Given the description of an element on the screen output the (x, y) to click on. 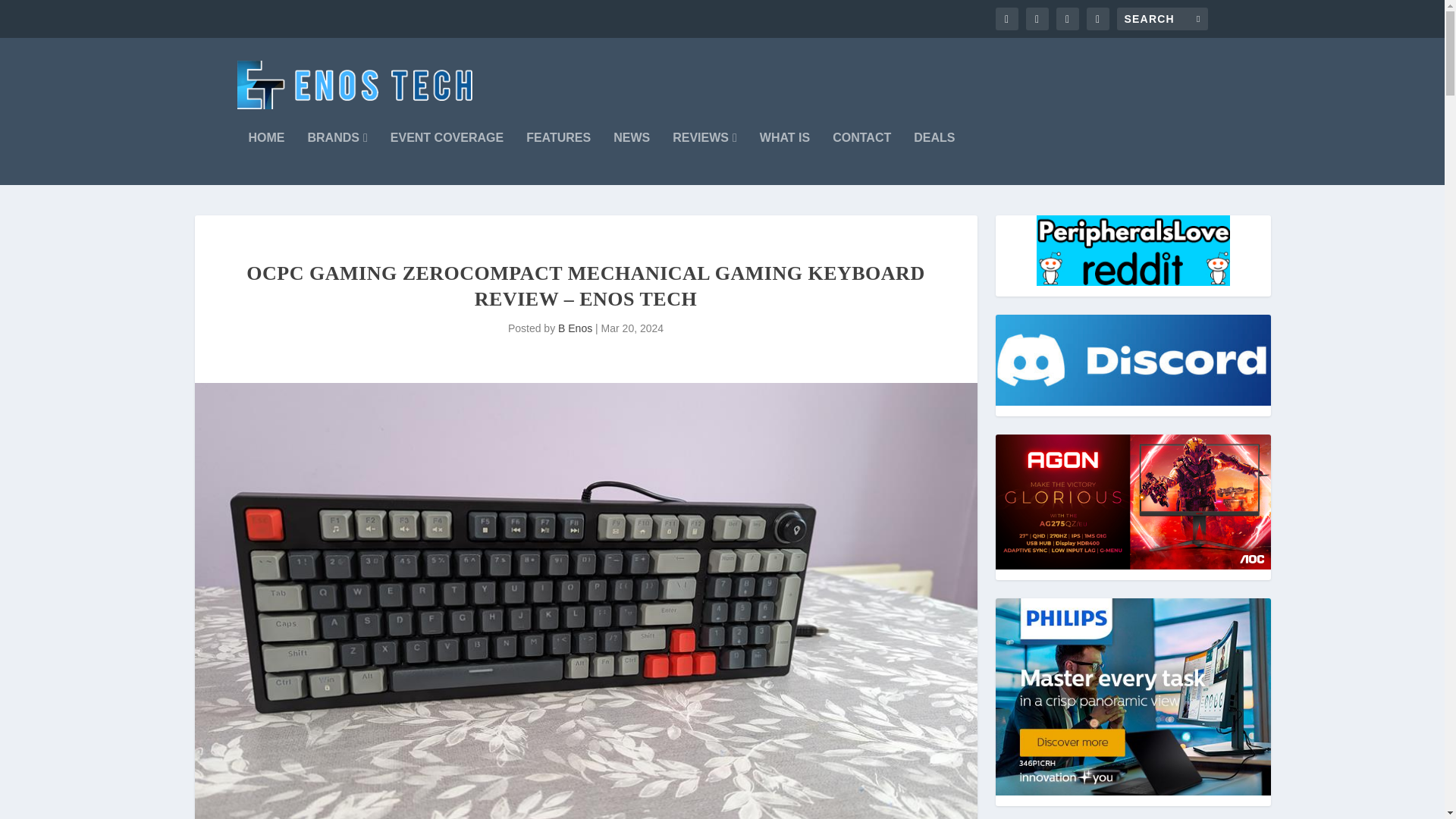
Posts by B Enos (574, 328)
EVENT COVERAGE (446, 158)
BRANDS (337, 158)
Search for: (1161, 18)
FEATURES (558, 158)
REVIEWS (704, 158)
